Given the description of an element on the screen output the (x, y) to click on. 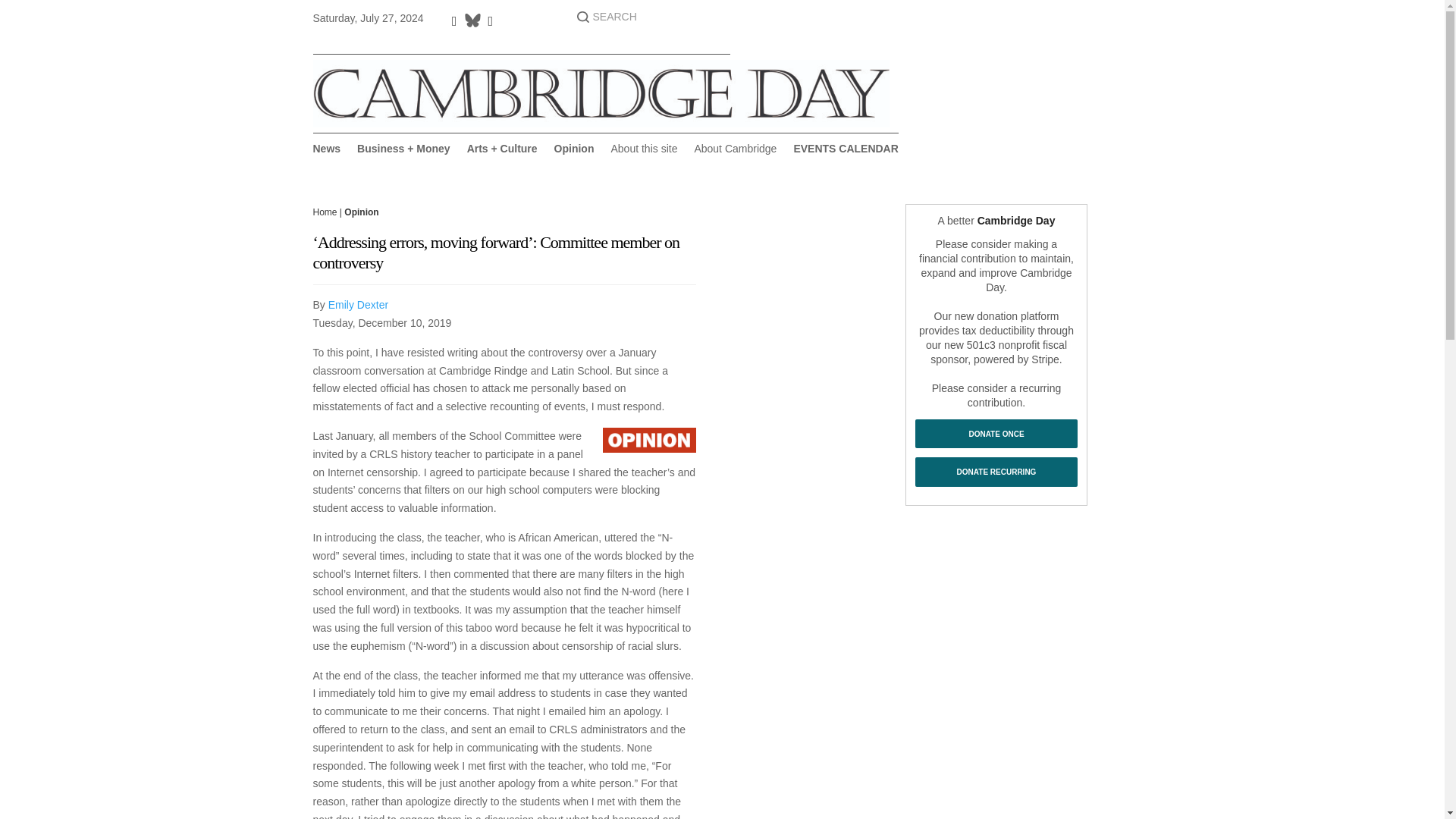
CD logo big (600, 93)
News (326, 151)
